Given the description of an element on the screen output the (x, y) to click on. 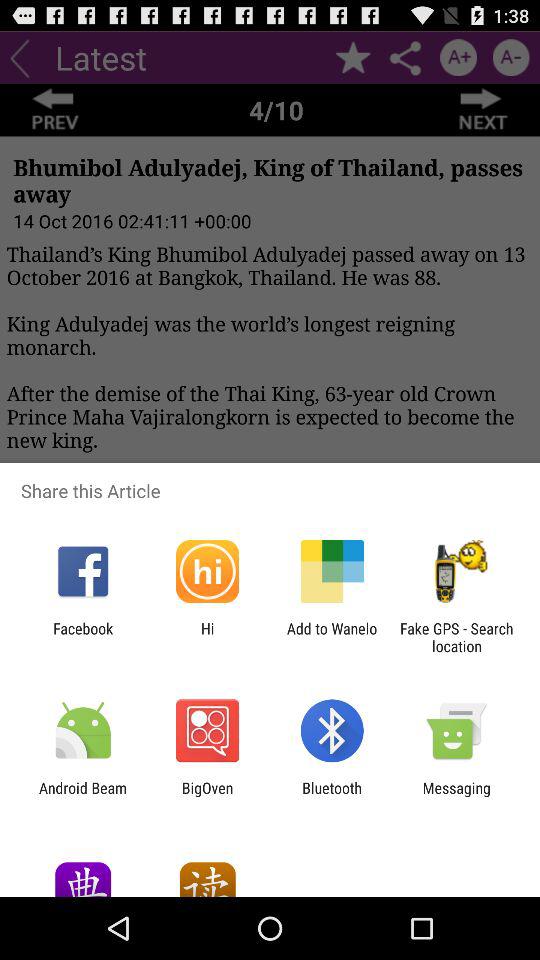
jump until add to wanelo icon (331, 637)
